Given the description of an element on the screen output the (x, y) to click on. 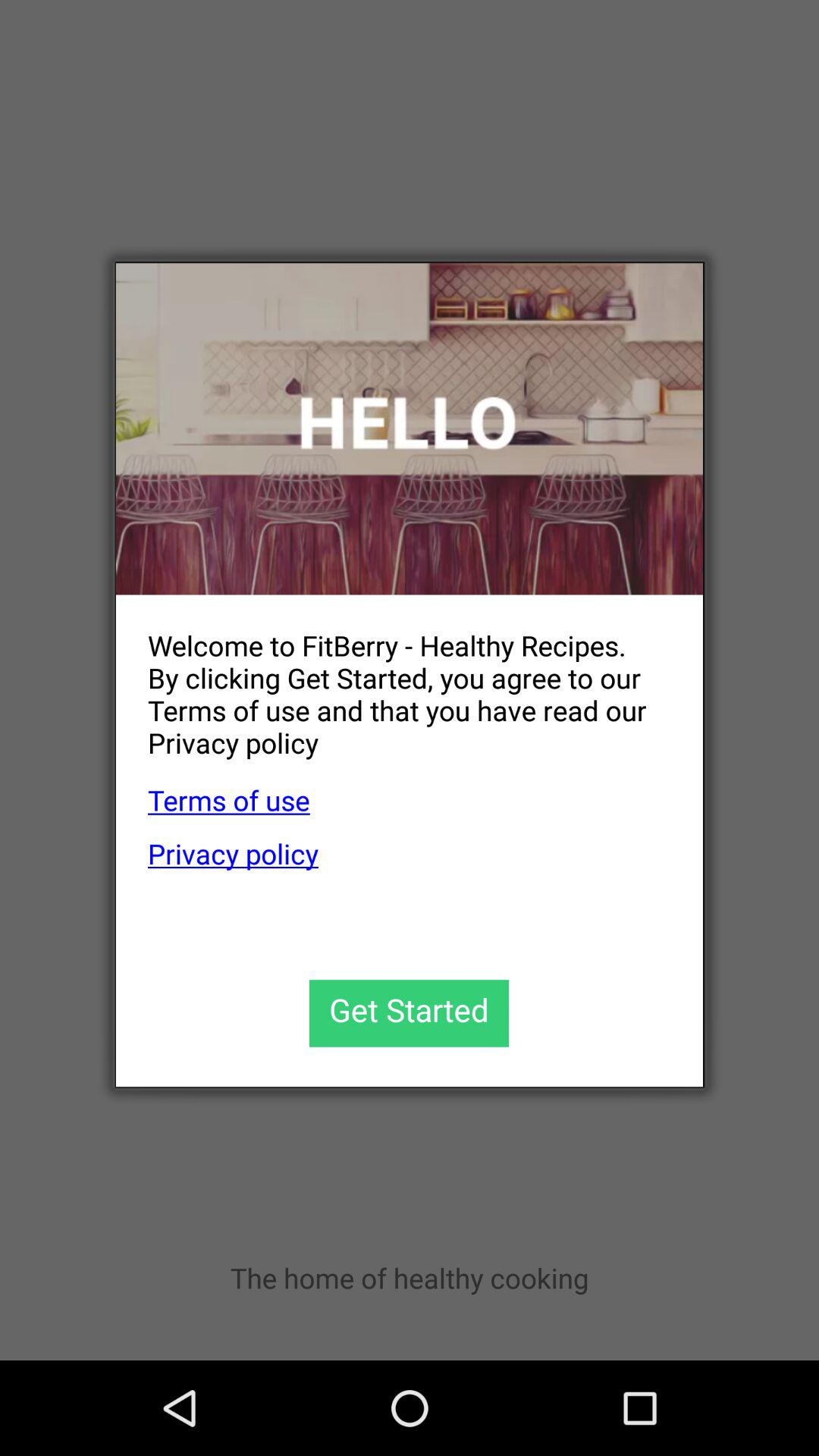
turn off welcome to fitberry (393, 681)
